Given the description of an element on the screen output the (x, y) to click on. 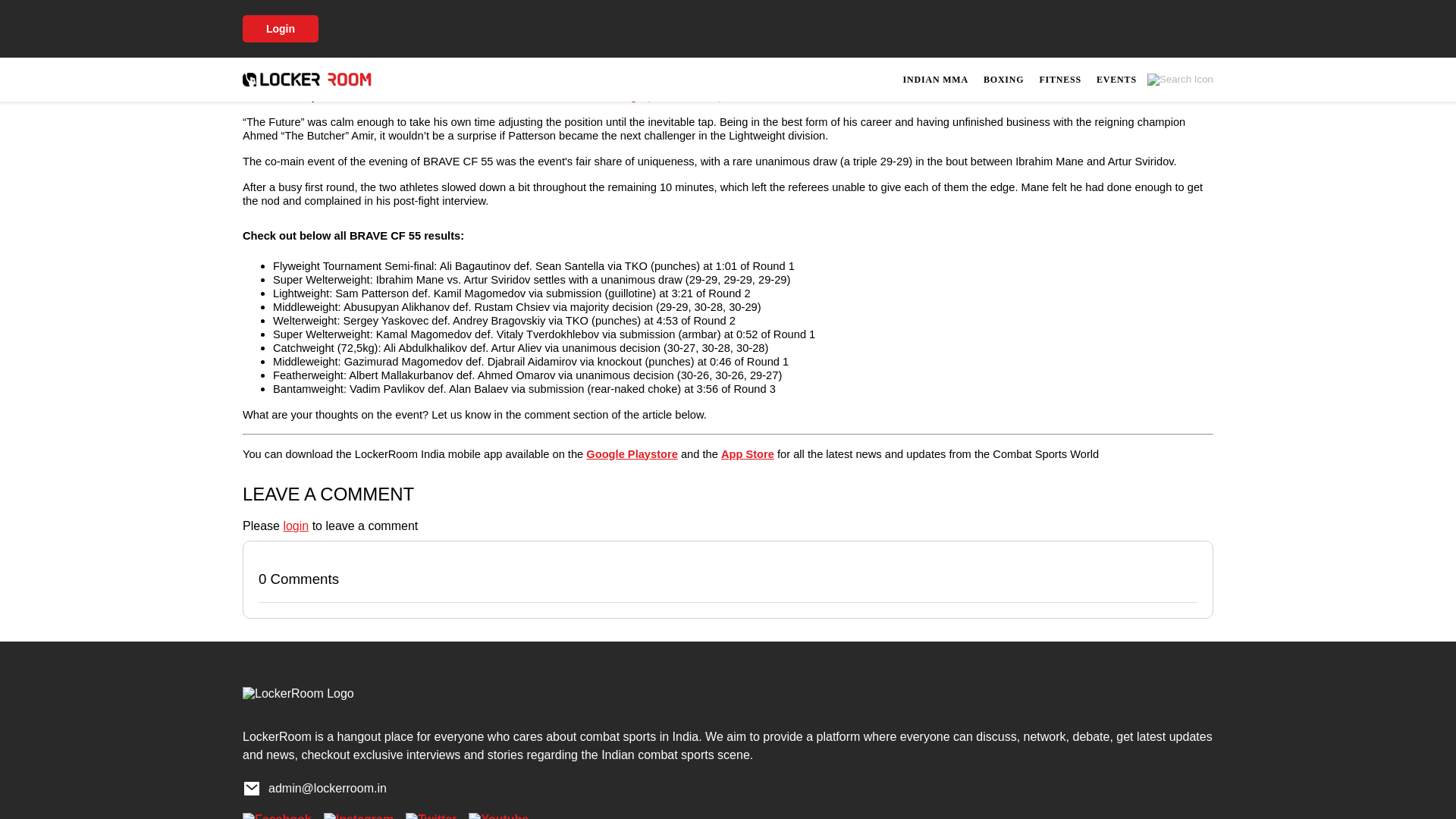
App Store (747, 453)
Google Playstore (632, 453)
